Given the description of an element on the screen output the (x, y) to click on. 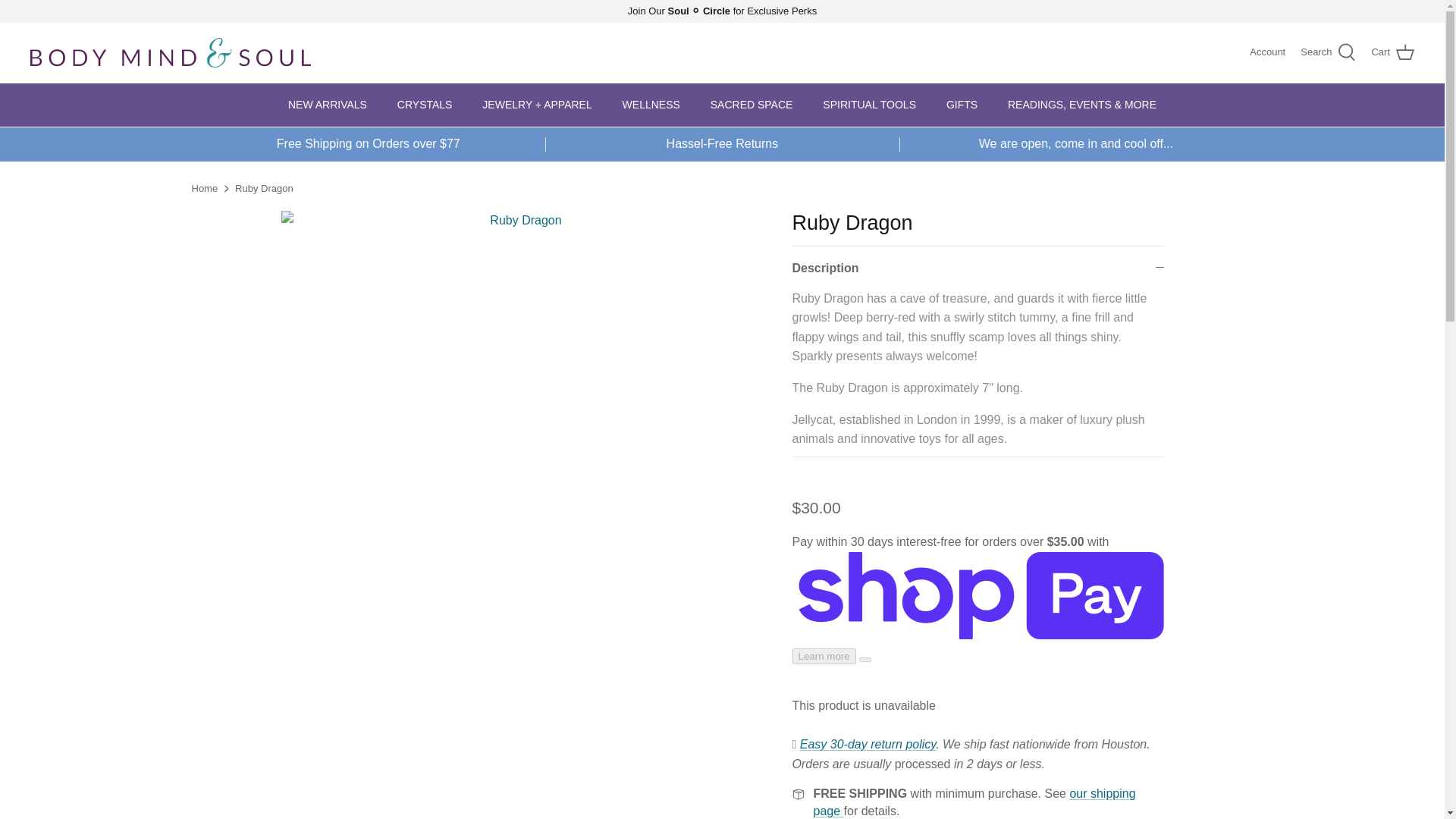
Cart (1392, 53)
Our Shipping Policy (973, 801)
Search (1327, 53)
Account (1267, 52)
CRYSTALS (424, 104)
NEW ARRIVALS (327, 104)
Shipping Policy (867, 744)
